Given the description of an element on the screen output the (x, y) to click on. 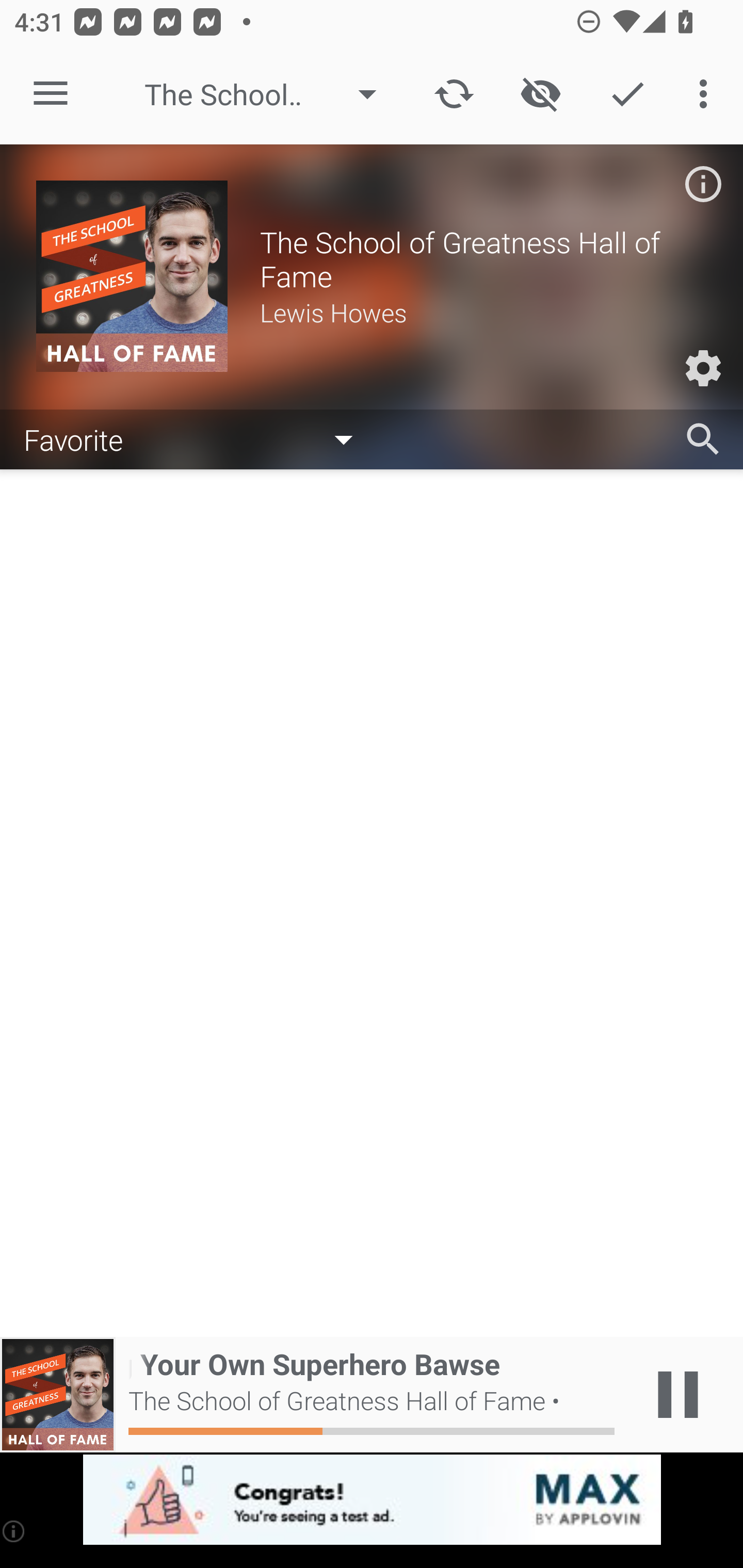
Open navigation sidebar (50, 93)
Update (453, 93)
Show / Hide played content (540, 93)
Action Mode (626, 93)
More options (706, 93)
The School of Greatness Hall of Fame (270, 94)
Podcast description (703, 184)
Lewis Howes (483, 311)
Custom Settings (703, 368)
Search (703, 439)
Favorite (197, 438)
Play / Pause (677, 1394)
app-monetization (371, 1500)
(i) (14, 1531)
